Given the description of an element on the screen output the (x, y) to click on. 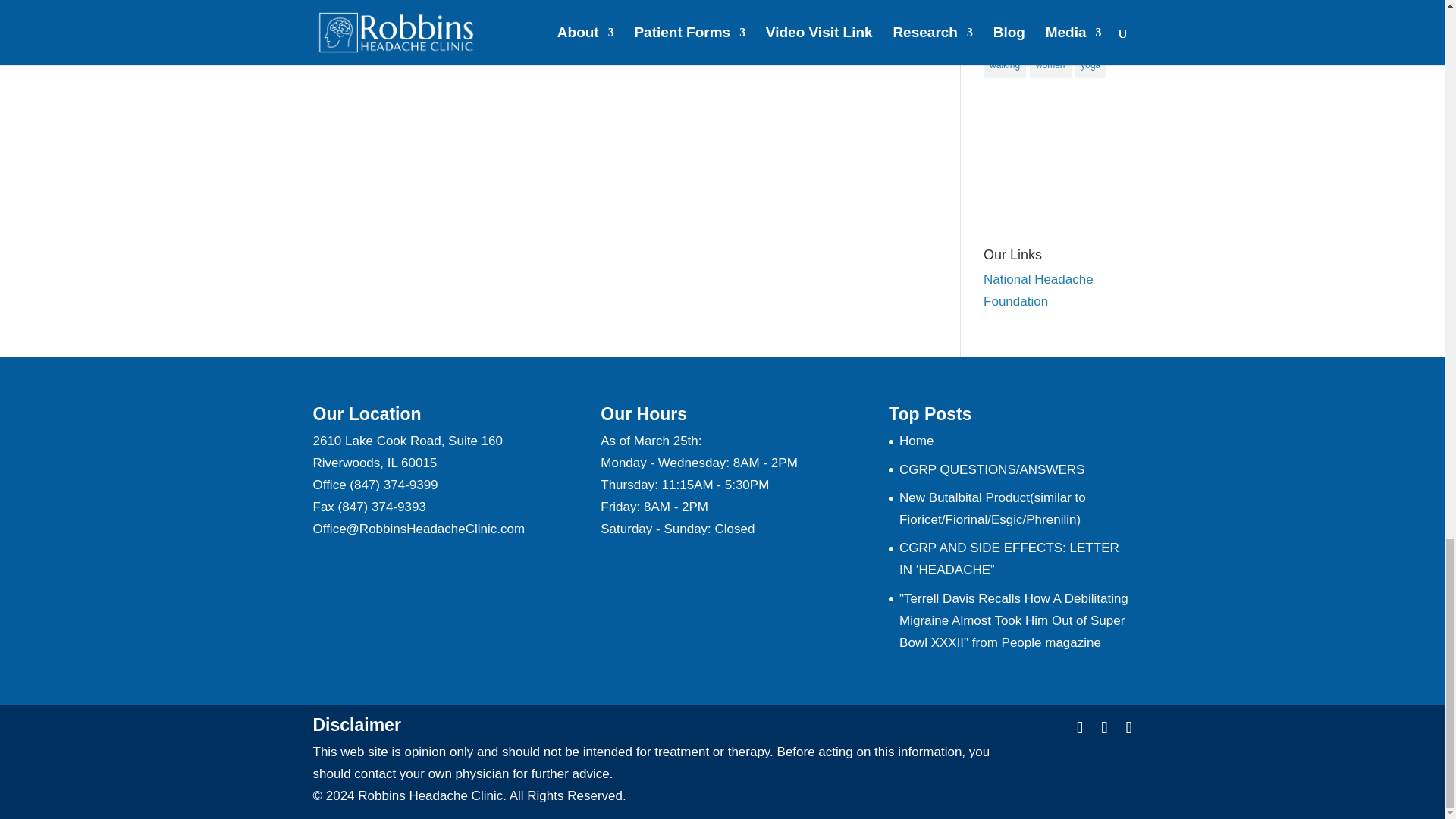
National Headache Foundation (1038, 289)
